Given the description of an element on the screen output the (x, y) to click on. 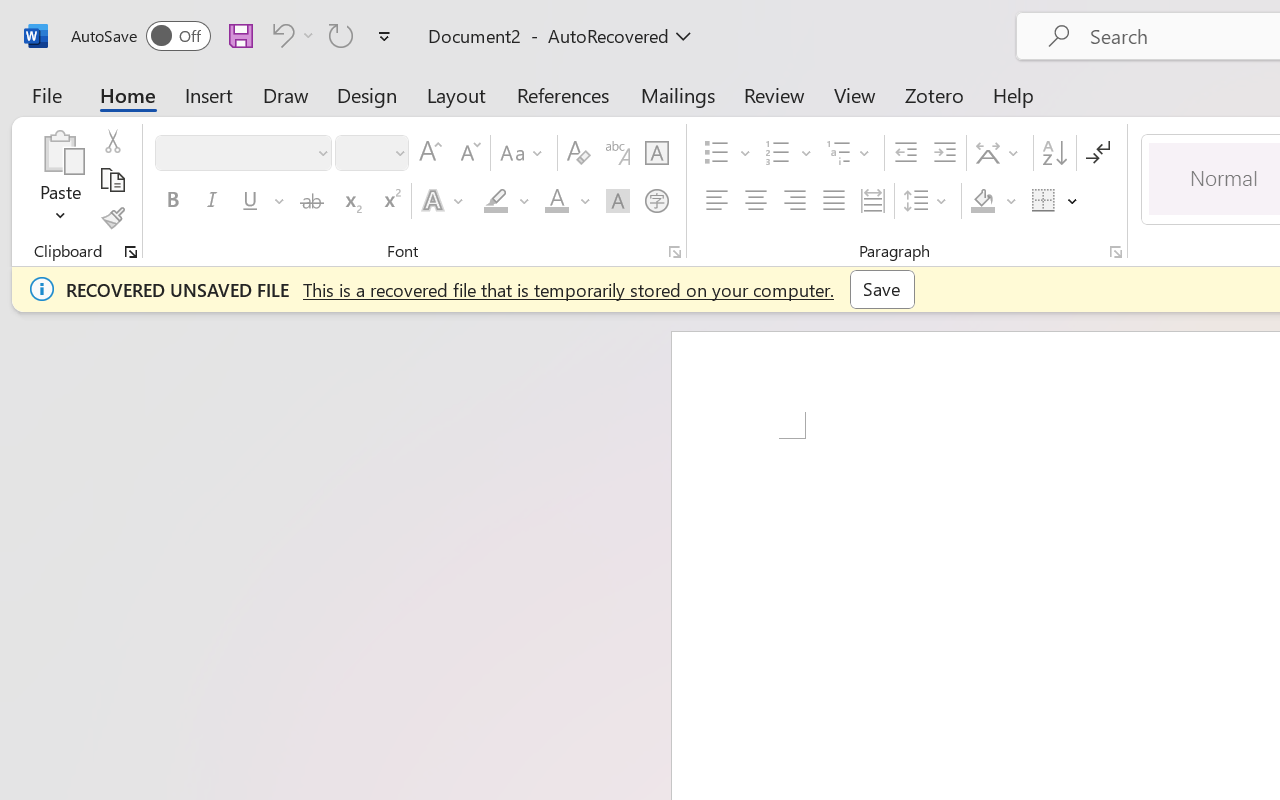
Phonetic Guide... (618, 153)
